Given the description of an element on the screen output the (x, y) to click on. 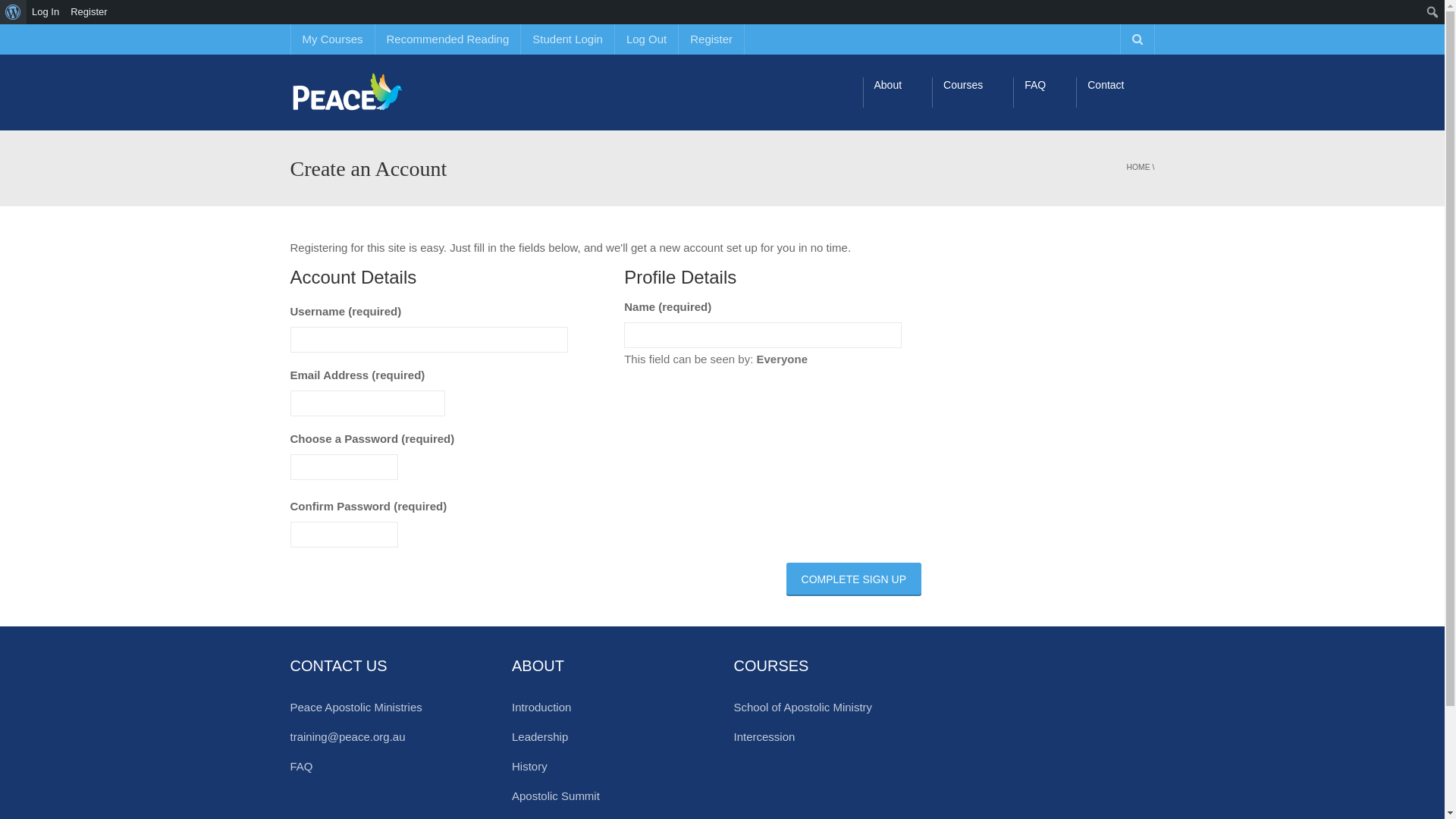
About Element type: text (897, 92)
Recommended Reading Element type: text (447, 39)
Log Out Element type: text (645, 39)
Log In Element type: text (45, 12)
History Element type: text (529, 765)
Complete Sign Up Element type: text (853, 579)
Register Element type: text (710, 39)
Introduction Element type: text (541, 706)
FAQ Element type: text (1044, 92)
Contact Element type: text (1115, 92)
FAQ Element type: text (300, 765)
HOME Element type: text (1138, 167)
Intercession Element type: text (764, 736)
Apostolic Summit Element type: text (555, 795)
Register Element type: text (88, 12)
Create an Account | Peace Online Training Element type: hover (384, 91)
Search Element type: text (15, 12)
School of Apostolic Ministry Element type: text (803, 706)
My Courses Element type: text (331, 39)
Leadership Element type: text (539, 736)
Student Login Element type: text (567, 39)
training@peace.org.au Element type: text (346, 736)
Courses Element type: text (972, 92)
